Given the description of an element on the screen output the (x, y) to click on. 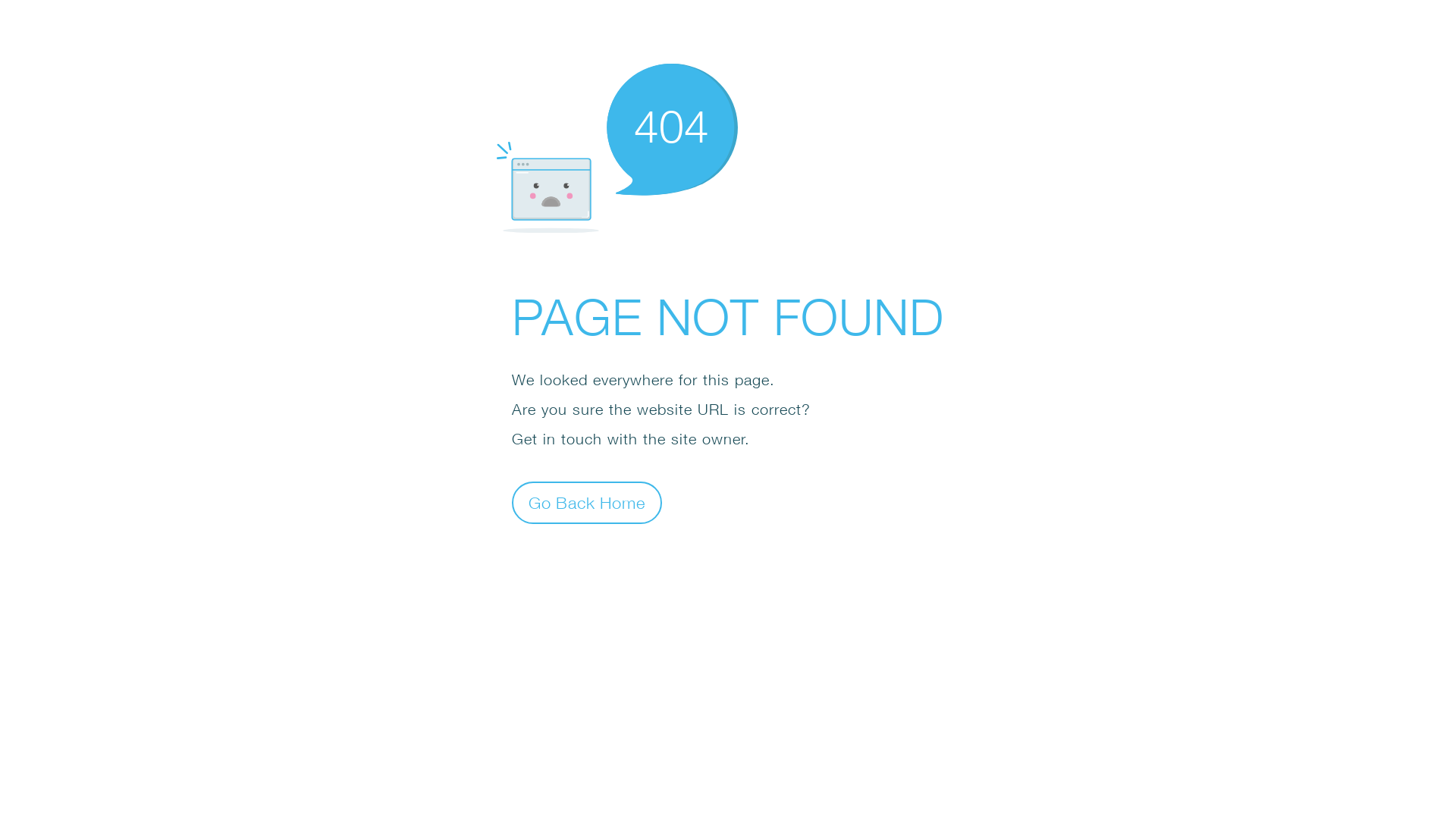
Go Back Home Element type: text (586, 502)
